Given the description of an element on the screen output the (x, y) to click on. 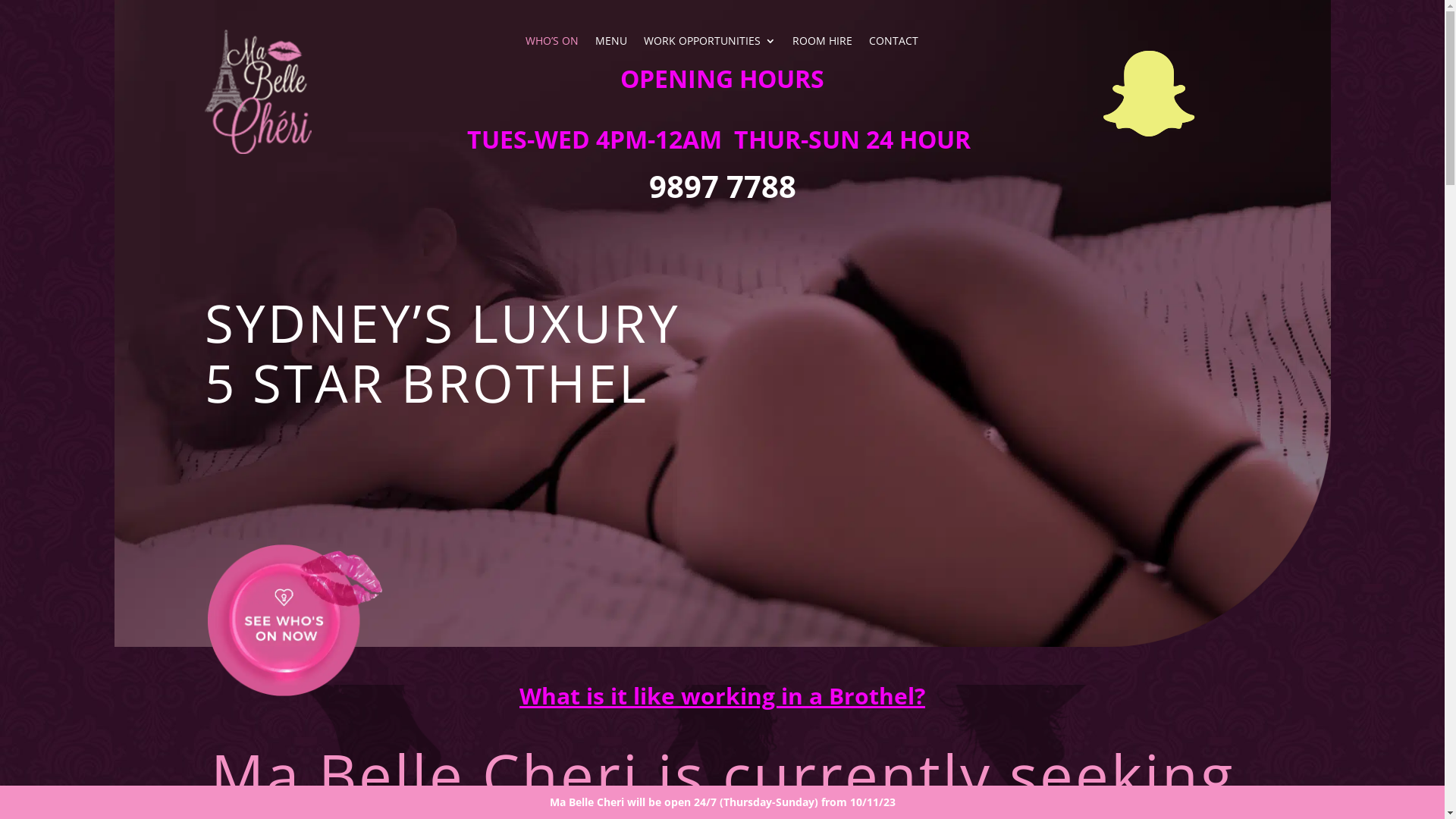
Follow on Facebook Element type: hover (1148, 94)
whos-on-button Element type: hover (294, 620)
WORK OPPORTUNITIES Element type: text (709, 43)
ROOM HIRE Element type: text (822, 43)
CONTACT Element type: text (893, 43)
MENU Element type: text (611, 43)
logo-header Element type: hover (257, 91)
